Given the description of an element on the screen output the (x, y) to click on. 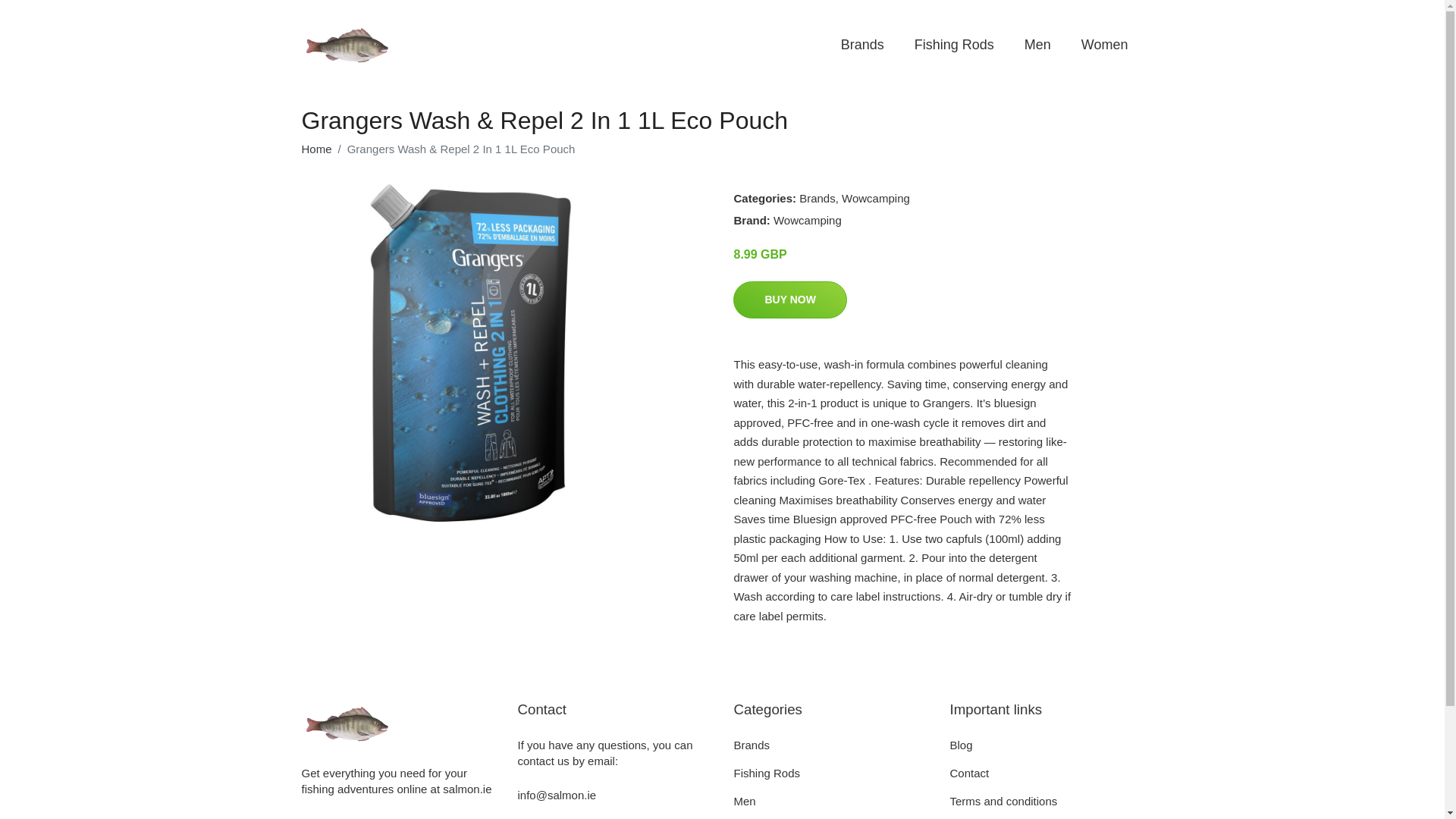
Women (1103, 44)
Home (316, 148)
Brands (817, 197)
Fishing Rods (766, 772)
Terms and conditions (1003, 800)
Contact (968, 772)
Men (1037, 44)
Wowcamping (875, 197)
Men (744, 800)
Brands (862, 44)
